Given the description of an element on the screen output the (x, y) to click on. 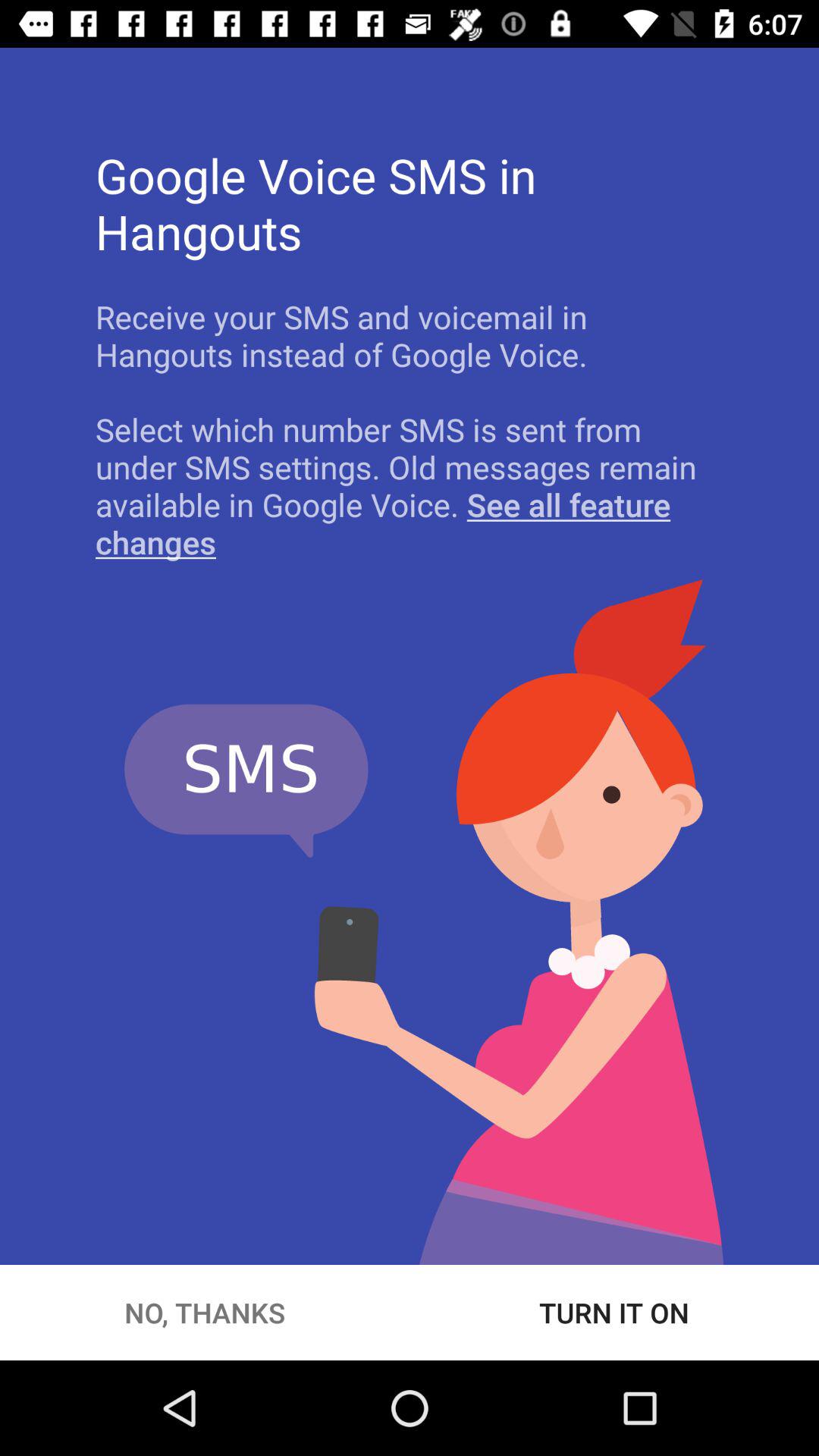
launch button to the left of the turn it on icon (204, 1312)
